Given the description of an element on the screen output the (x, y) to click on. 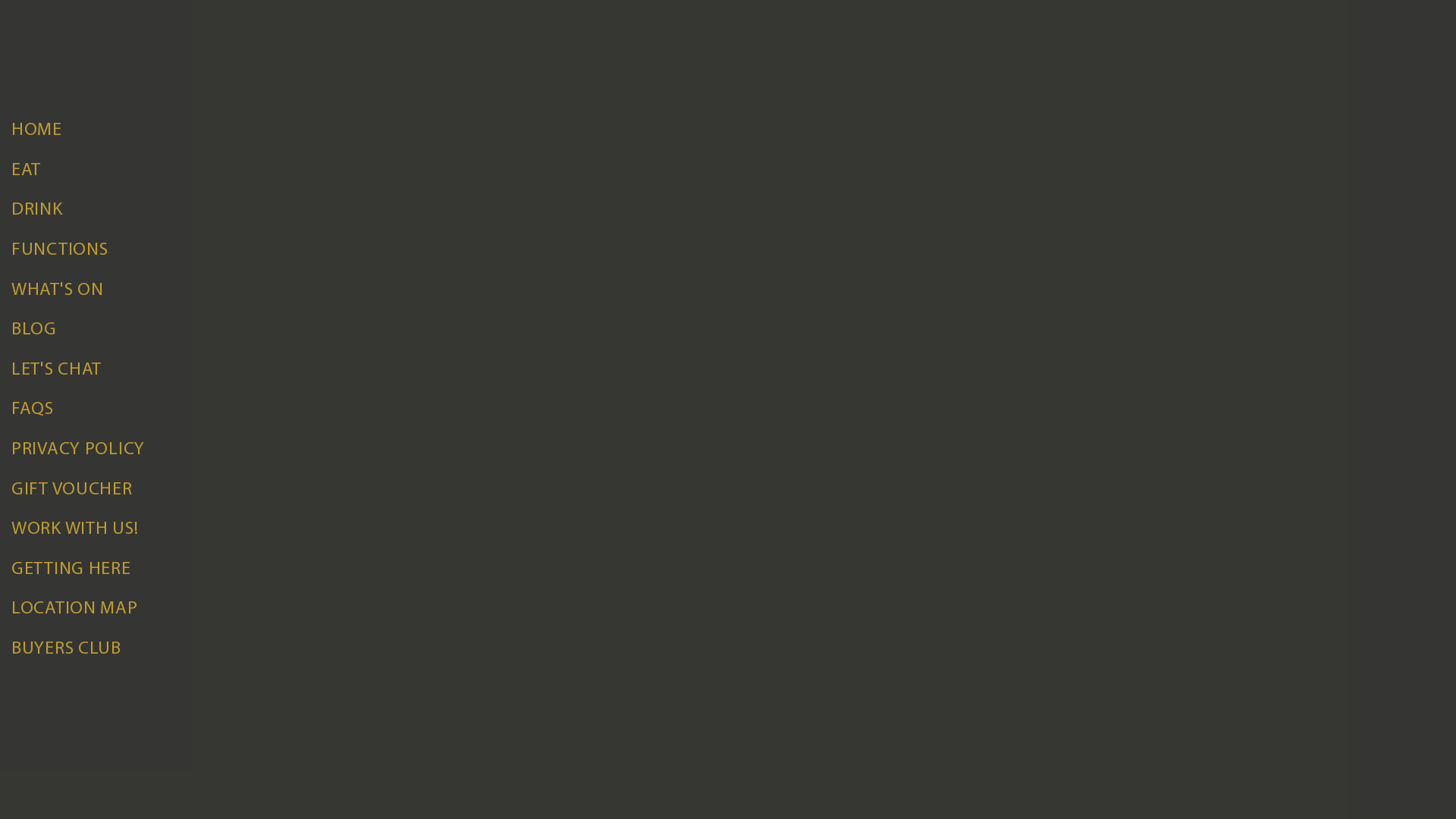
EAT Element type: text (727, 170)
FUNCTIONS Element type: text (727, 250)
LOCATION MAP Element type: text (727, 609)
WHAT'S ON Element type: text (727, 290)
FAQS Element type: text (727, 410)
DRINK Element type: text (727, 211)
PRIVACY POLICY Element type: text (727, 449)
HOME Element type: text (727, 130)
BLOG Element type: text (727, 330)
GETTING HERE Element type: text (727, 569)
WORK WITH US! Element type: text (727, 529)
GIFT VOUCHER Element type: text (727, 490)
LET'S CHAT Element type: text (727, 370)
BUYERS CLUB Element type: text (727, 649)
